Given the description of an element on the screen output the (x, y) to click on. 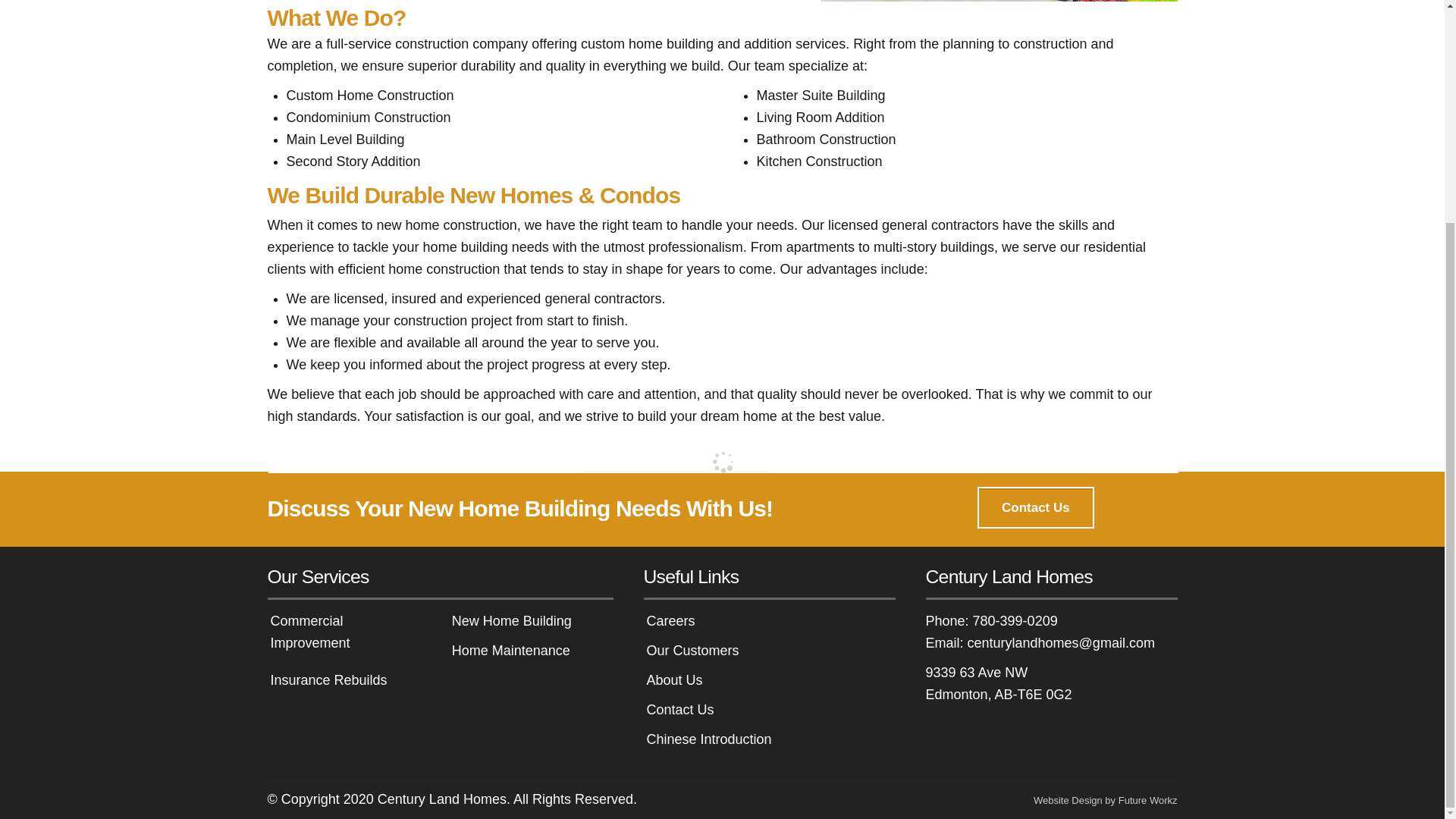
Contact Us (1034, 507)
New Home Building (511, 620)
Home Maintenance (510, 650)
Commercial Improvement (309, 631)
Contact Us (1034, 507)
